Given the description of an element on the screen output the (x, y) to click on. 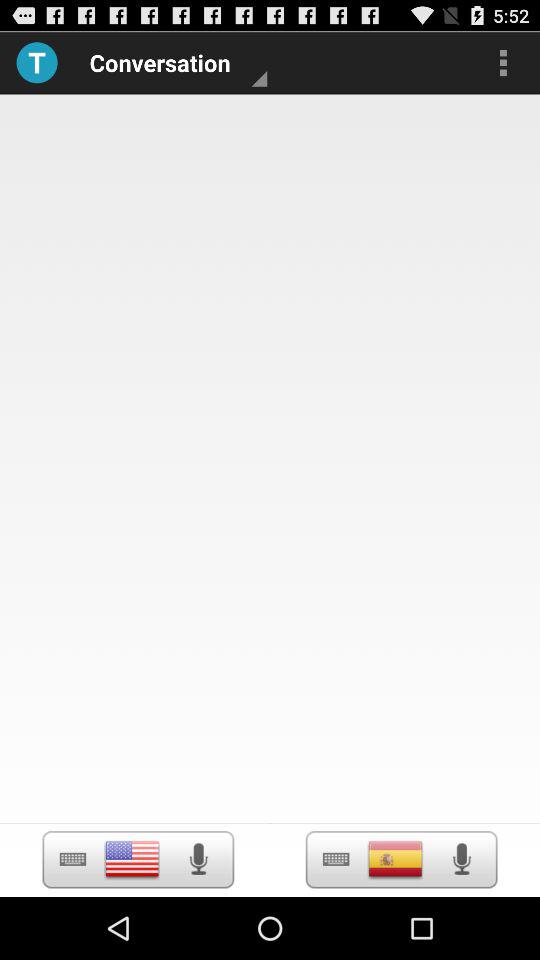
voice recording (131, 859)
